Given the description of an element on the screen output the (x, y) to click on. 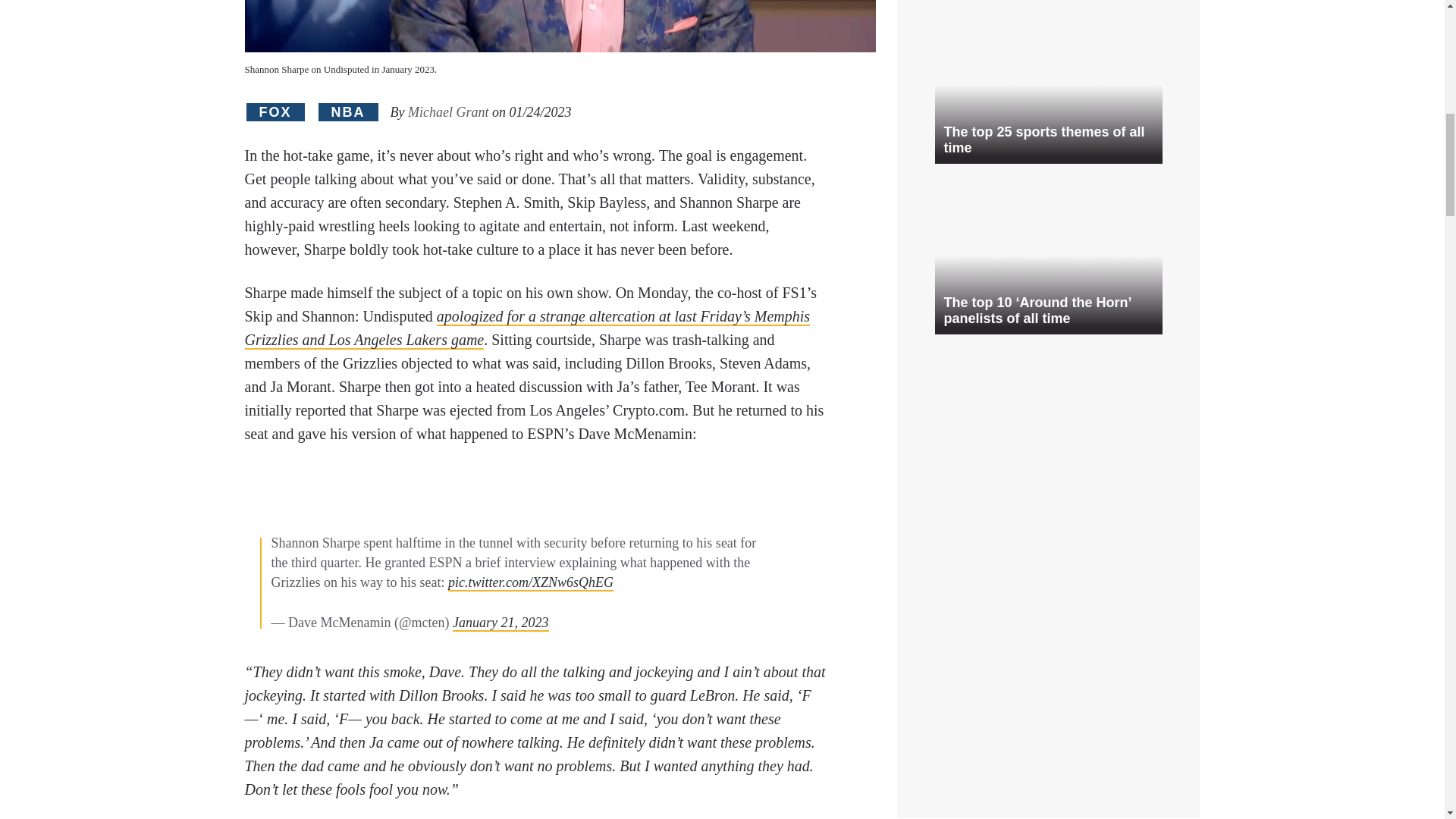
View all posts in Fox (275, 112)
View all posts in NBA (348, 112)
